Given the description of an element on the screen output the (x, y) to click on. 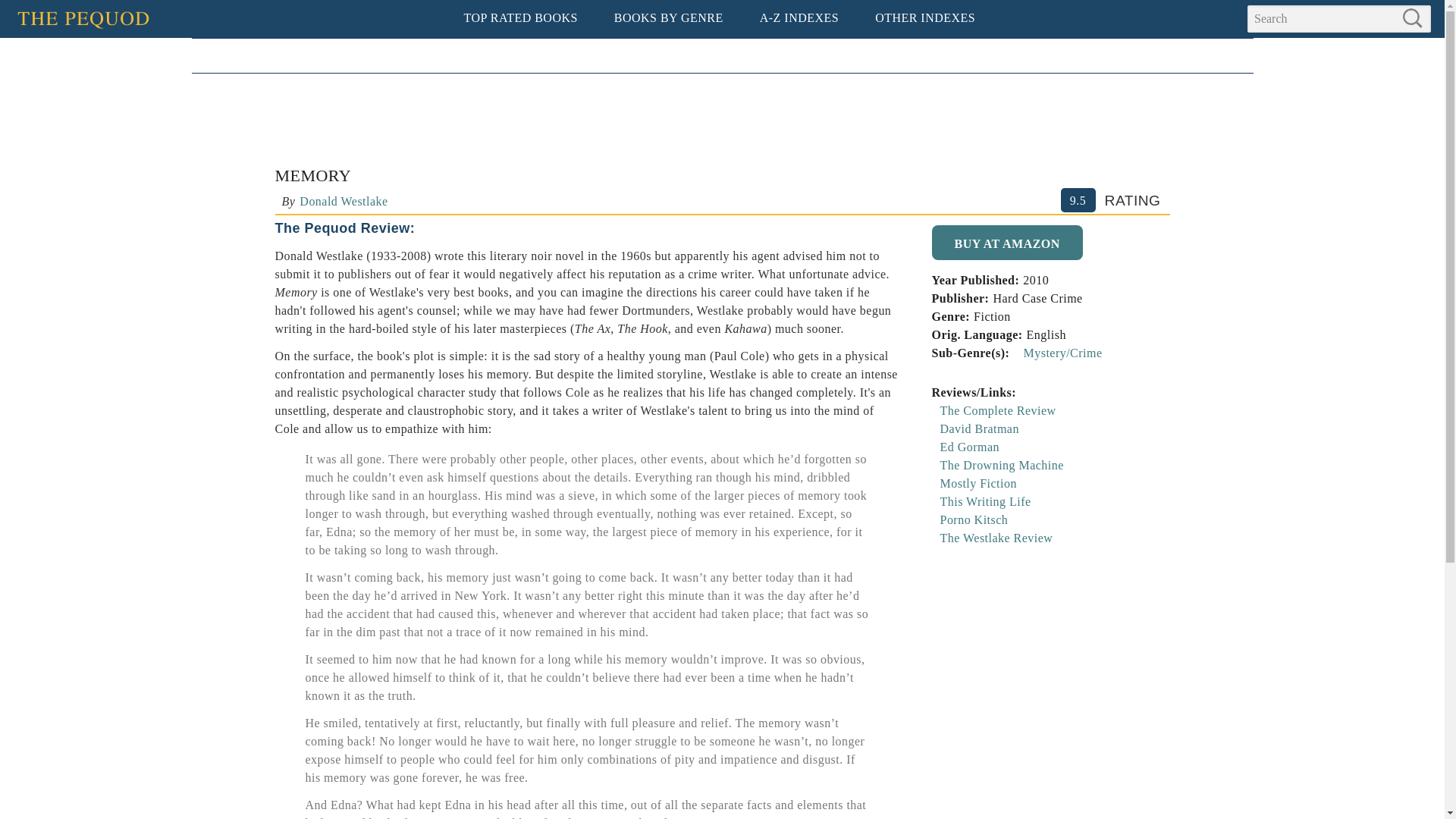
David Bratman (979, 428)
The Complete Review (998, 410)
Apply (1416, 20)
Mostly Fiction (978, 482)
Apply (1416, 20)
Ed Gorman (970, 446)
BOOKS BY GENRE (668, 18)
The Drowning Machine (1002, 464)
This Writing Life (985, 501)
BUY AT AMAZON (1006, 242)
